Given the description of an element on the screen output the (x, y) to click on. 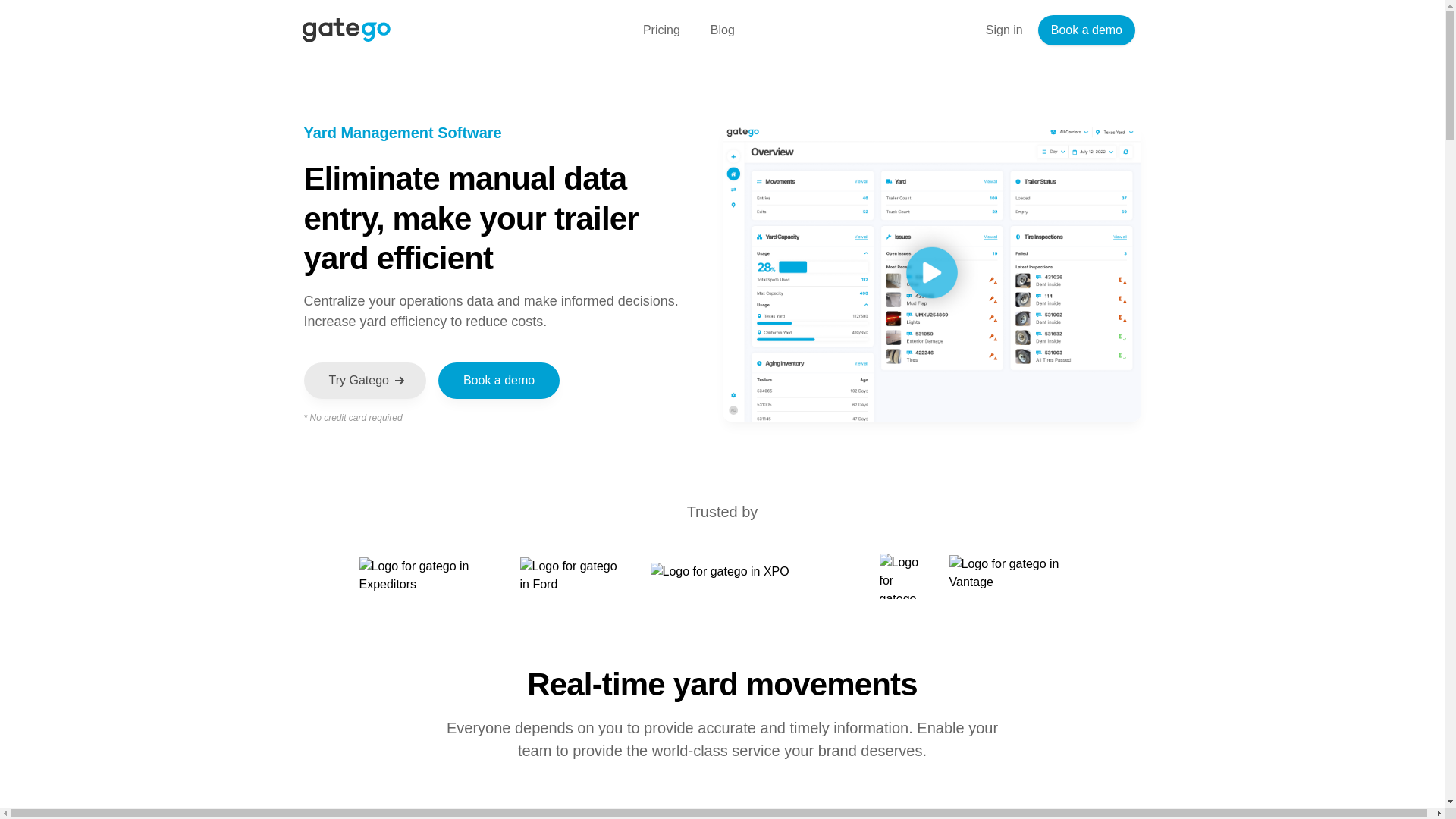
Book a demo (1086, 30)
Pricing (661, 30)
Try Gatego (363, 380)
Sign in (1004, 30)
Book a demo (498, 380)
Blog (722, 30)
